Given the description of an element on the screen output the (x, y) to click on. 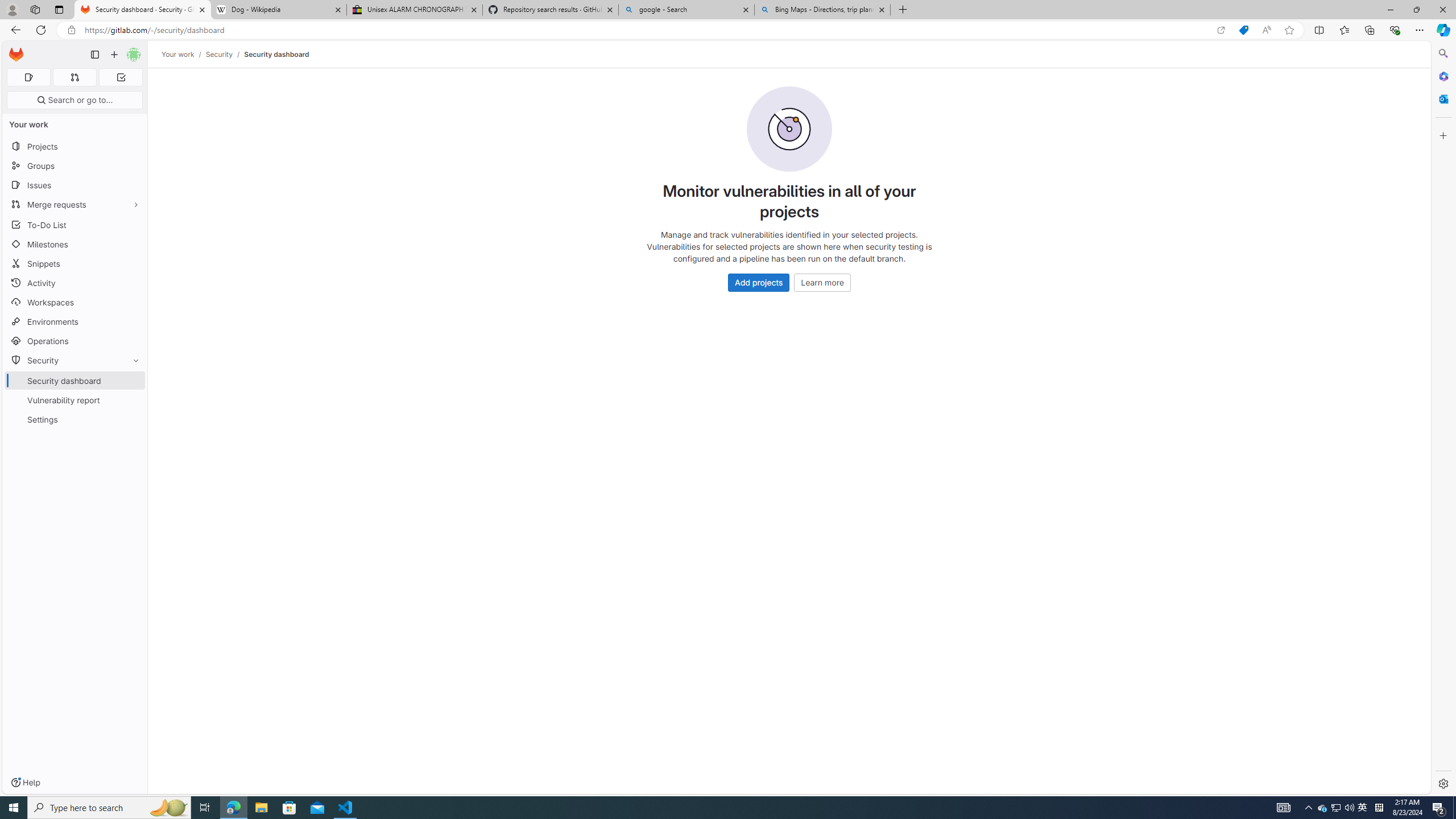
Your work (178, 53)
Open in app (1220, 29)
To-Do list 0 (120, 76)
Operations (74, 340)
Security (218, 53)
Environments (74, 321)
